Given the description of an element on the screen output the (x, y) to click on. 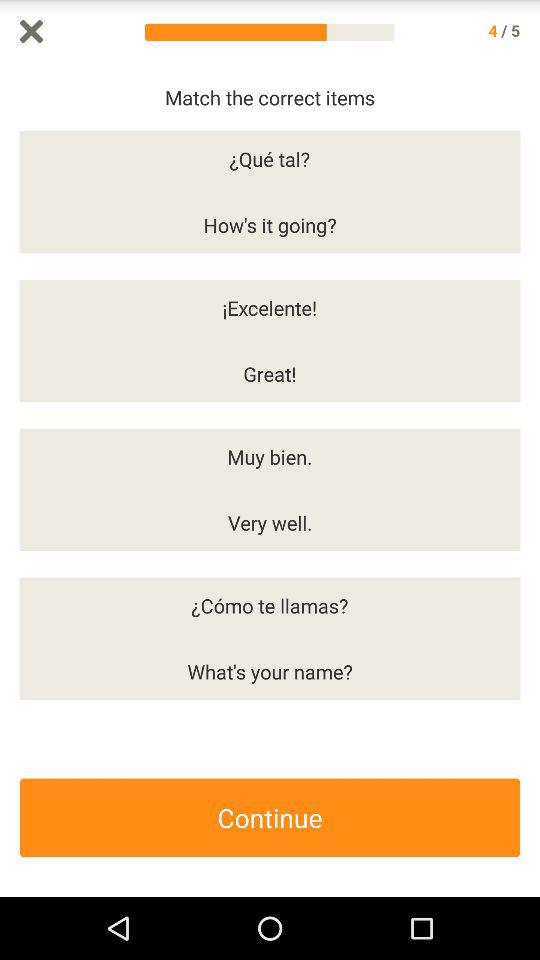
press button on the right (530, 480)
